Given the description of an element on the screen output the (x, y) to click on. 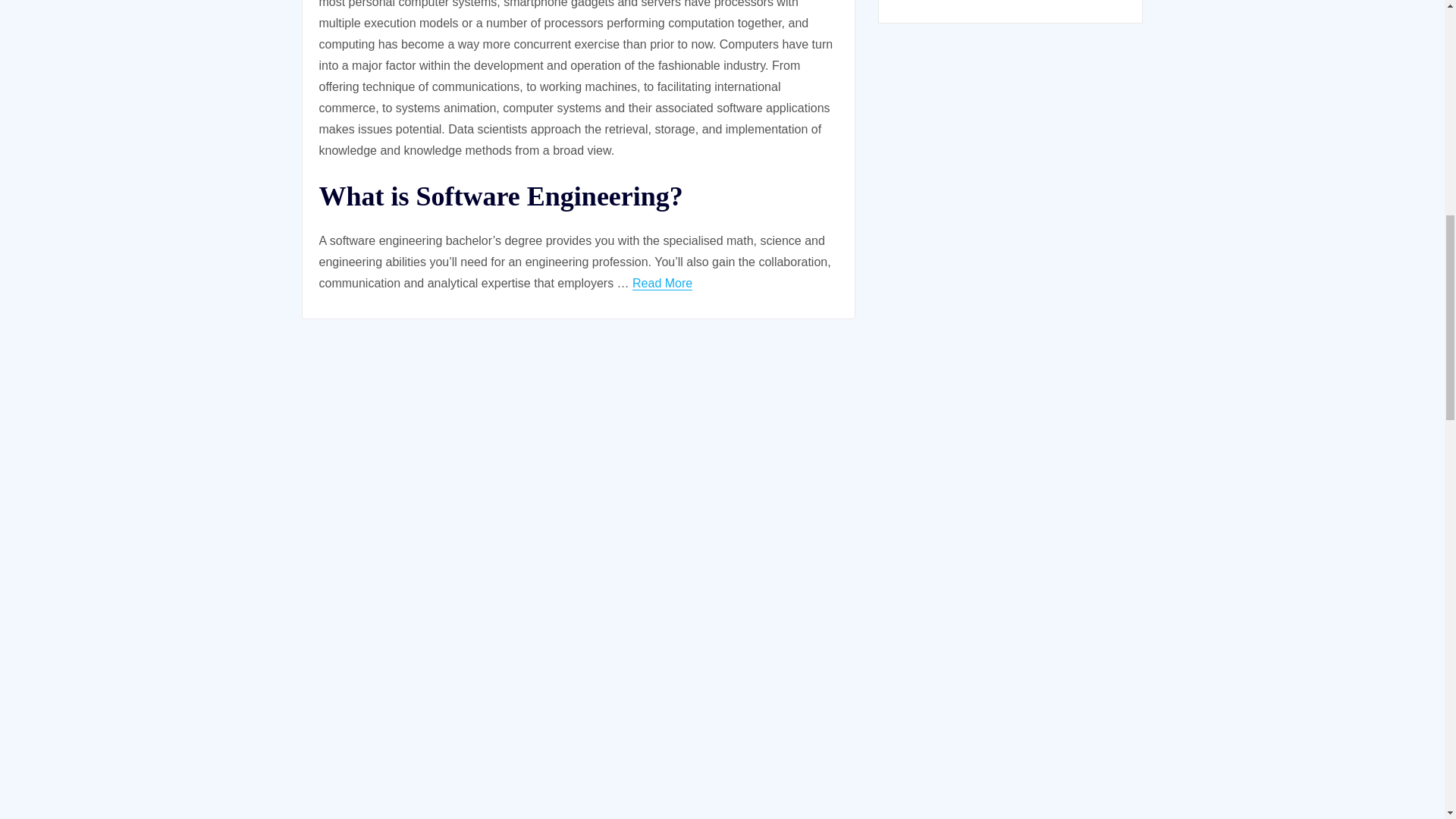
Read More (662, 282)
